Given the description of an element on the screen output the (x, y) to click on. 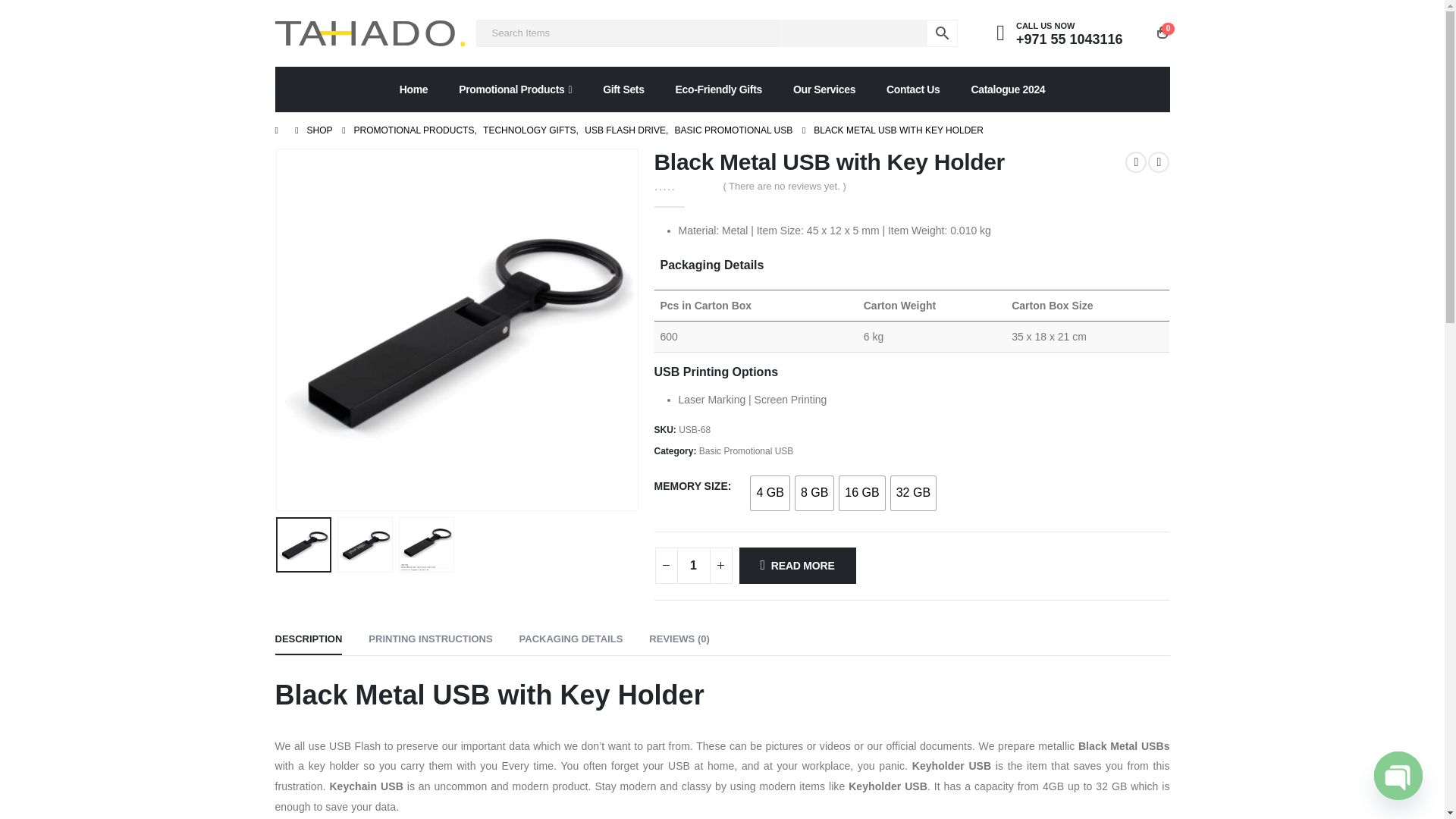
Home (414, 89)
4 GB (770, 492)
16 GB (861, 492)
Promotional Products (515, 89)
32 GB (913, 492)
1 (693, 565)
8 GB (813, 492)
Black-Metal-USB-with-Key-Holder-USB-68-main-t.jpg (456, 329)
